Given the description of an element on the screen output the (x, y) to click on. 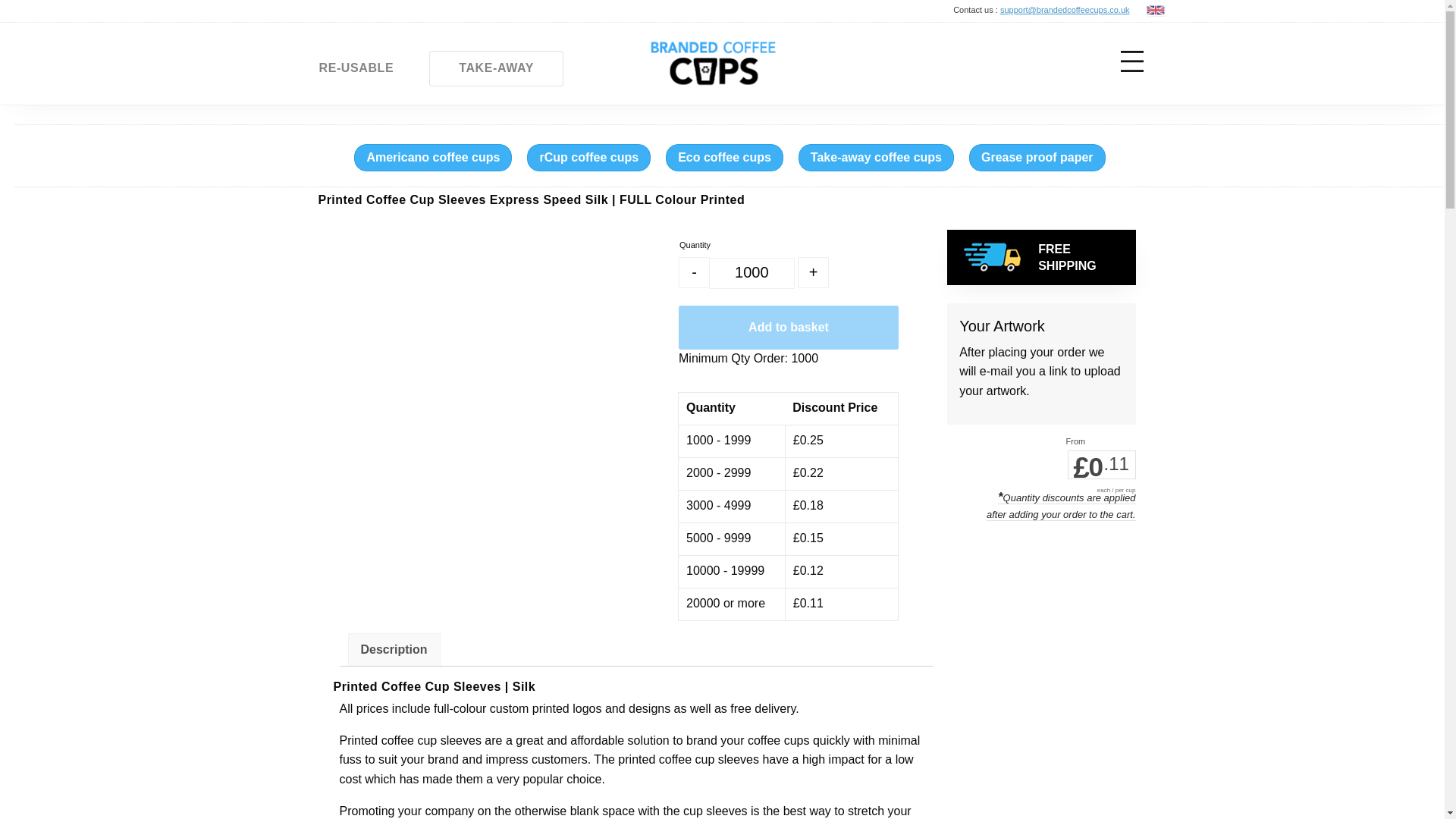
rCup coffee cups (588, 157)
Take-away (1037, 157)
1000 (751, 273)
Take-away coffee cups (875, 157)
Eco coffee cups (724, 157)
RE-USABLE (355, 68)
FAQ Page (957, 66)
Artwork Info (1016, 65)
Description (394, 649)
Qty (751, 273)
rCup coffee cups (588, 157)
Americano Coffee Cups (432, 157)
Take-away (875, 157)
Grease proof paper (1037, 157)
Americano coffee cups (432, 157)
